Given the description of an element on the screen output the (x, y) to click on. 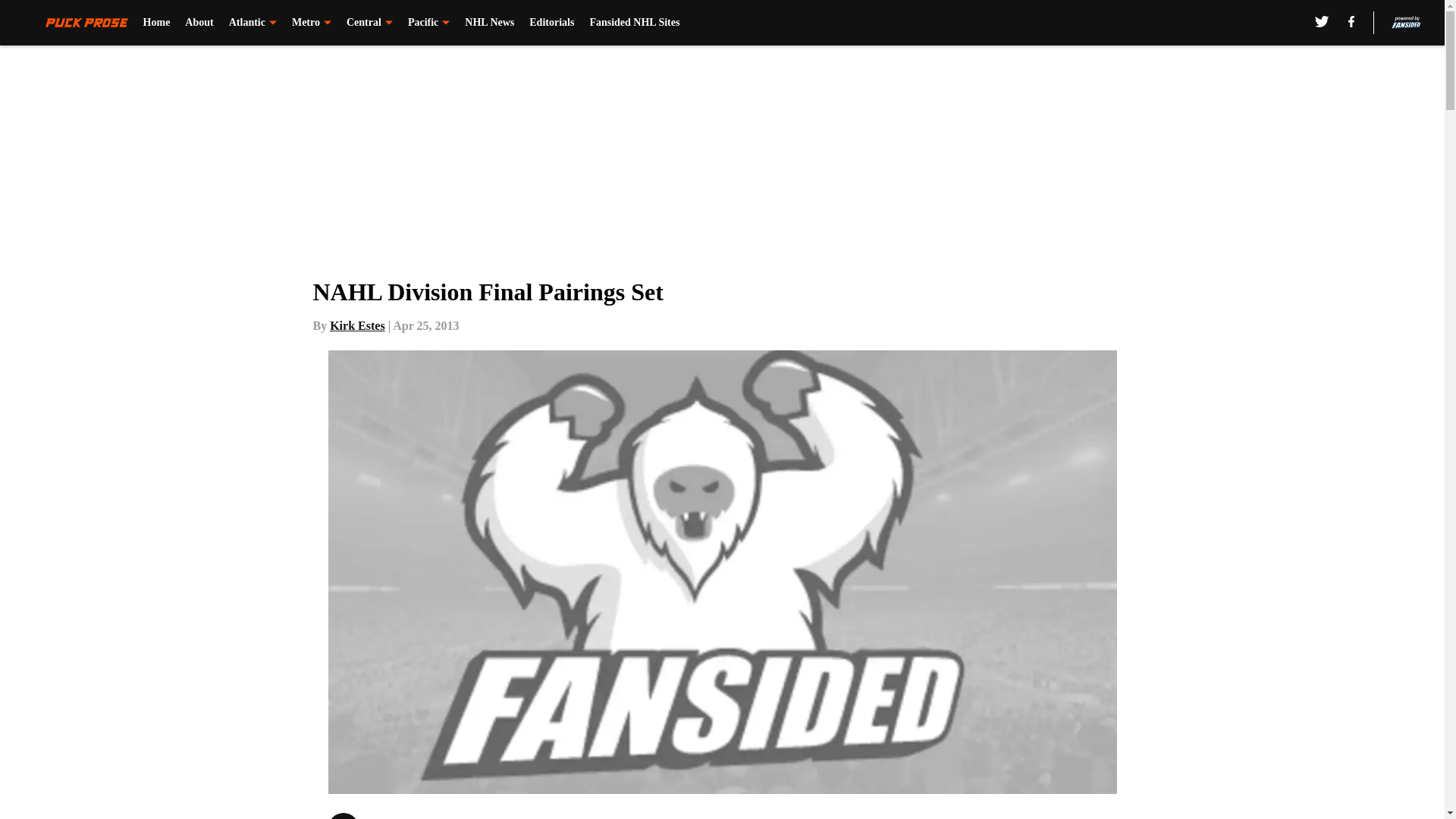
About (198, 22)
NHL News (488, 22)
Home (156, 22)
